Given the description of an element on the screen output the (x, y) to click on. 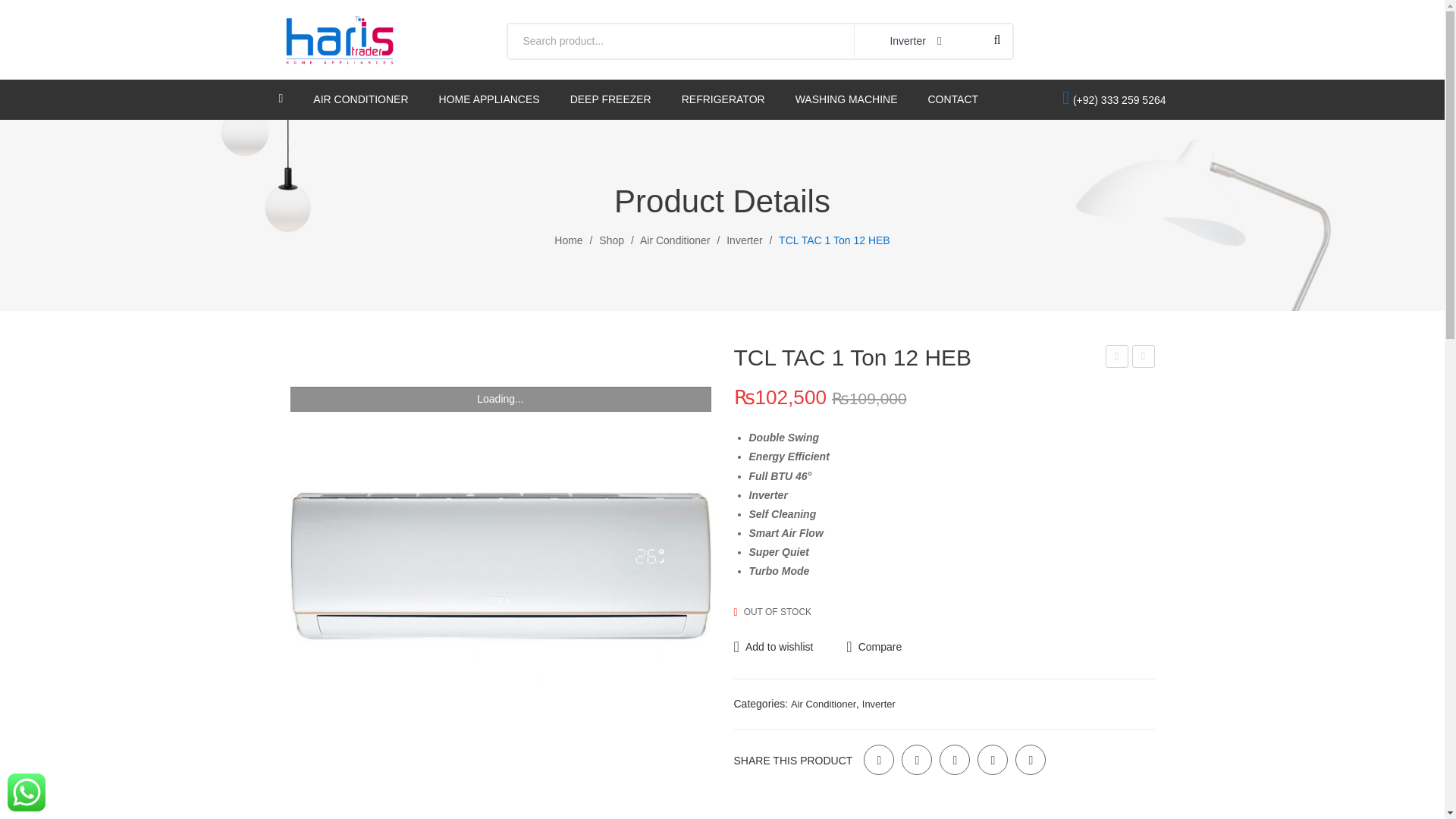
Pinterest (954, 759)
LinkedIn (1029, 759)
REFRIGERATOR (723, 99)
Harris Traders (339, 38)
Facebook (878, 759)
HOME APPLIANCES (489, 99)
WASHING MACHINE (846, 99)
Search (996, 39)
Twitter (916, 759)
DEEP FREEZER (610, 99)
AIR CONDITIONER (360, 99)
